Given the description of an element on the screen output the (x, y) to click on. 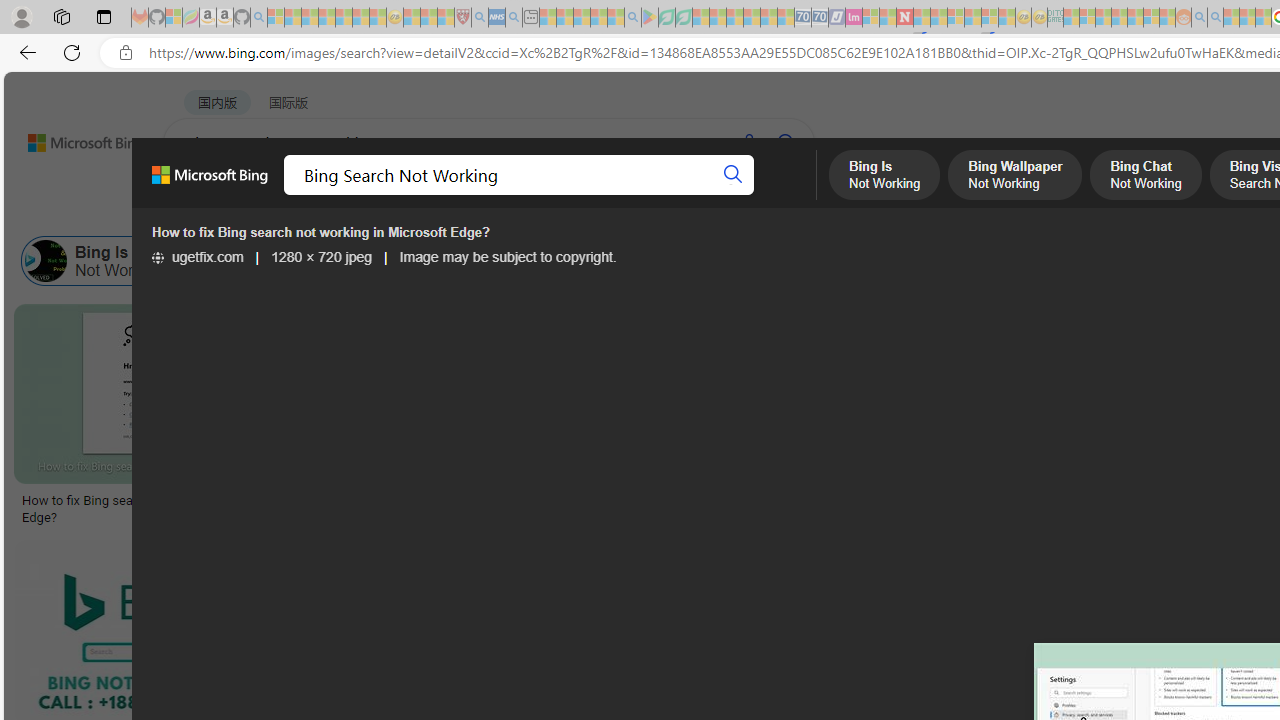
Bing Visual Search Not Working (586, 260)
New Report Confirms 2023 Was Record Hot | Watch - Sleeping (343, 17)
Local - MSN - Sleeping (445, 17)
WEB (201, 195)
Cheap Hotels - Save70.com - Sleeping (819, 17)
Remove Bing Search (812, 260)
14 Common Myths Debunked By Scientific Facts - Sleeping (938, 17)
Why Is My Bing Not Working (1053, 260)
